Given the description of an element on the screen output the (x, y) to click on. 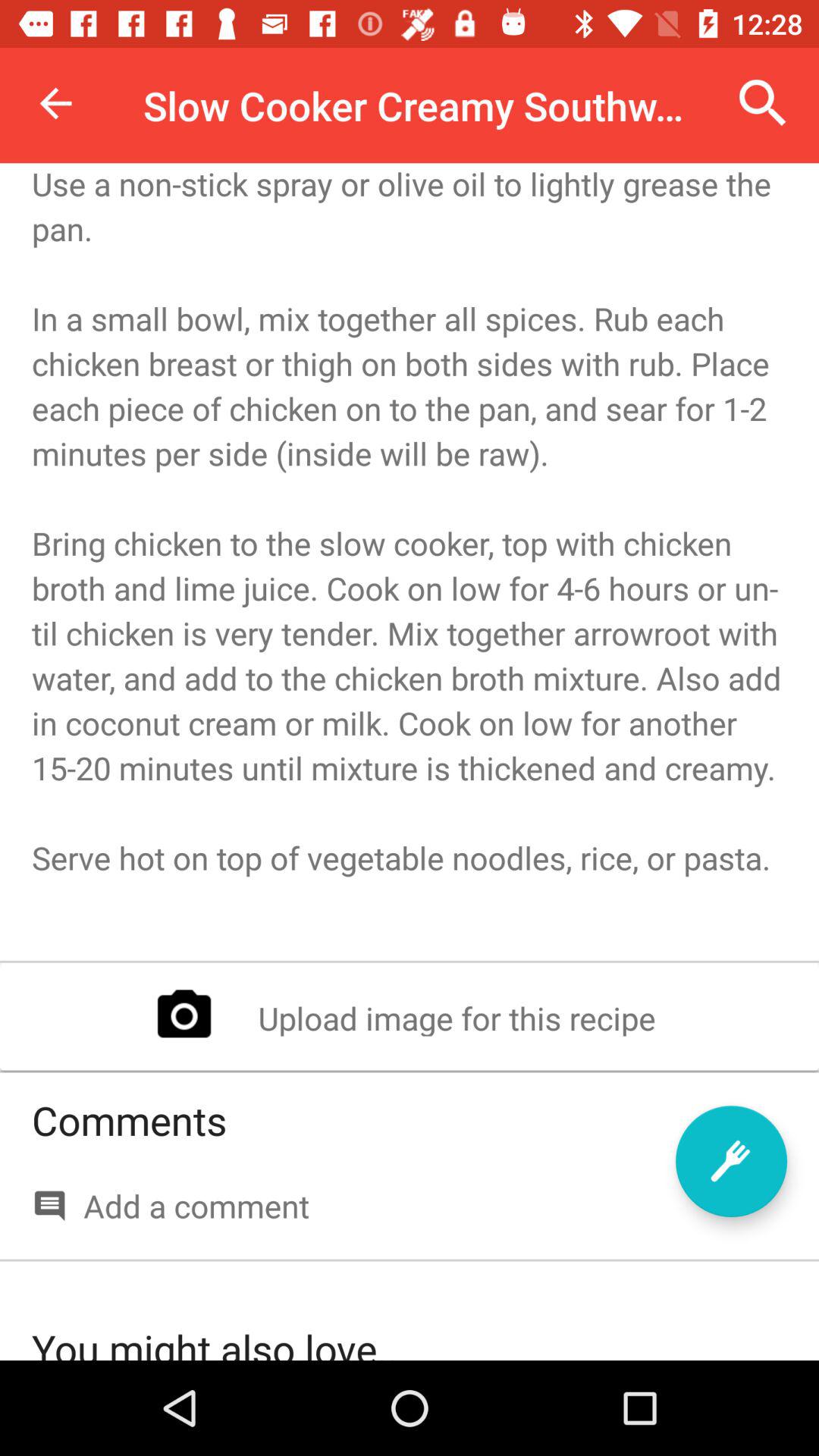
turn off icon above the begin by heating (763, 103)
